Given the description of an element on the screen output the (x, y) to click on. 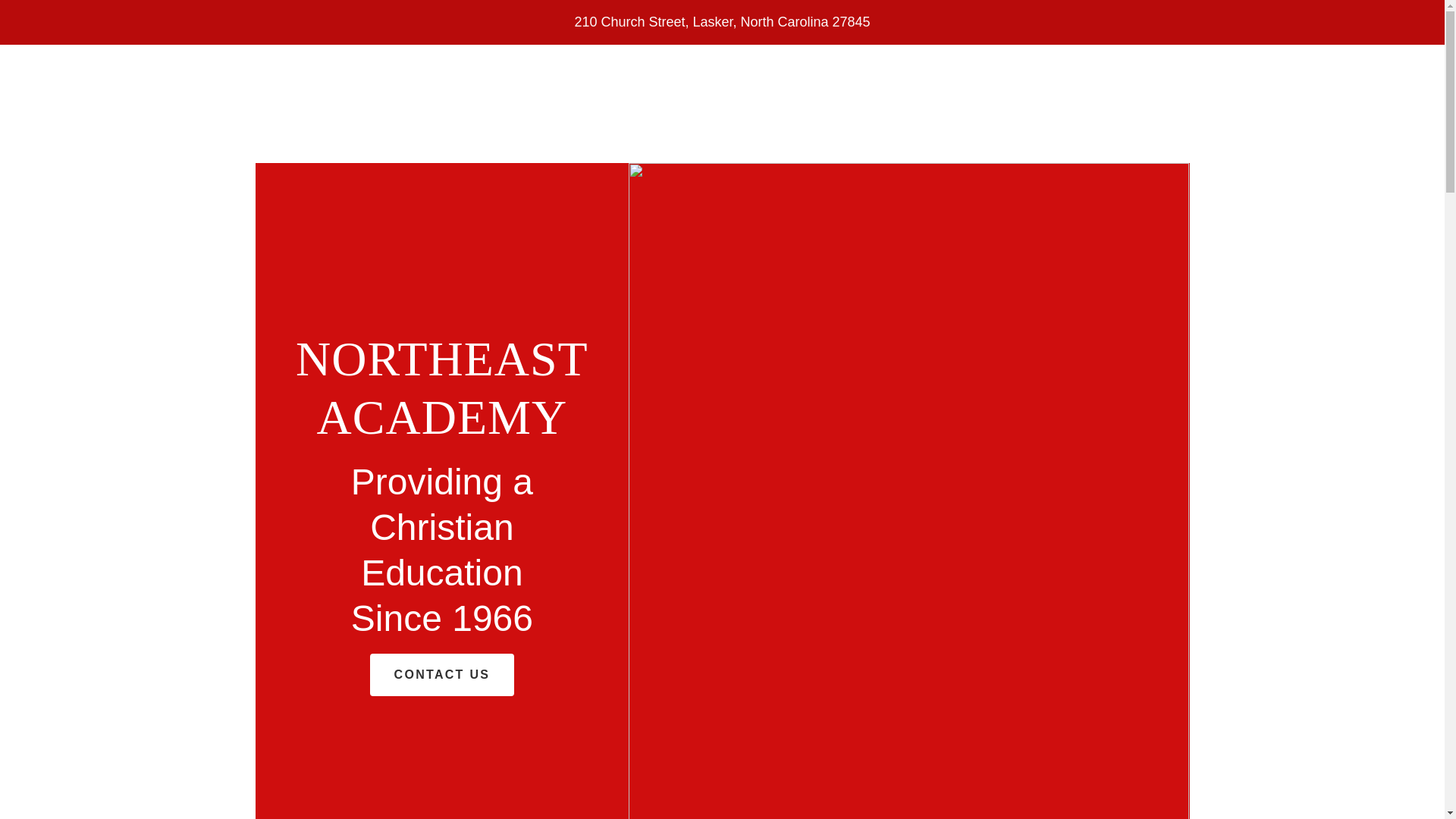
Northeast Academy (441, 428)
